Given the description of an element on the screen output the (x, y) to click on. 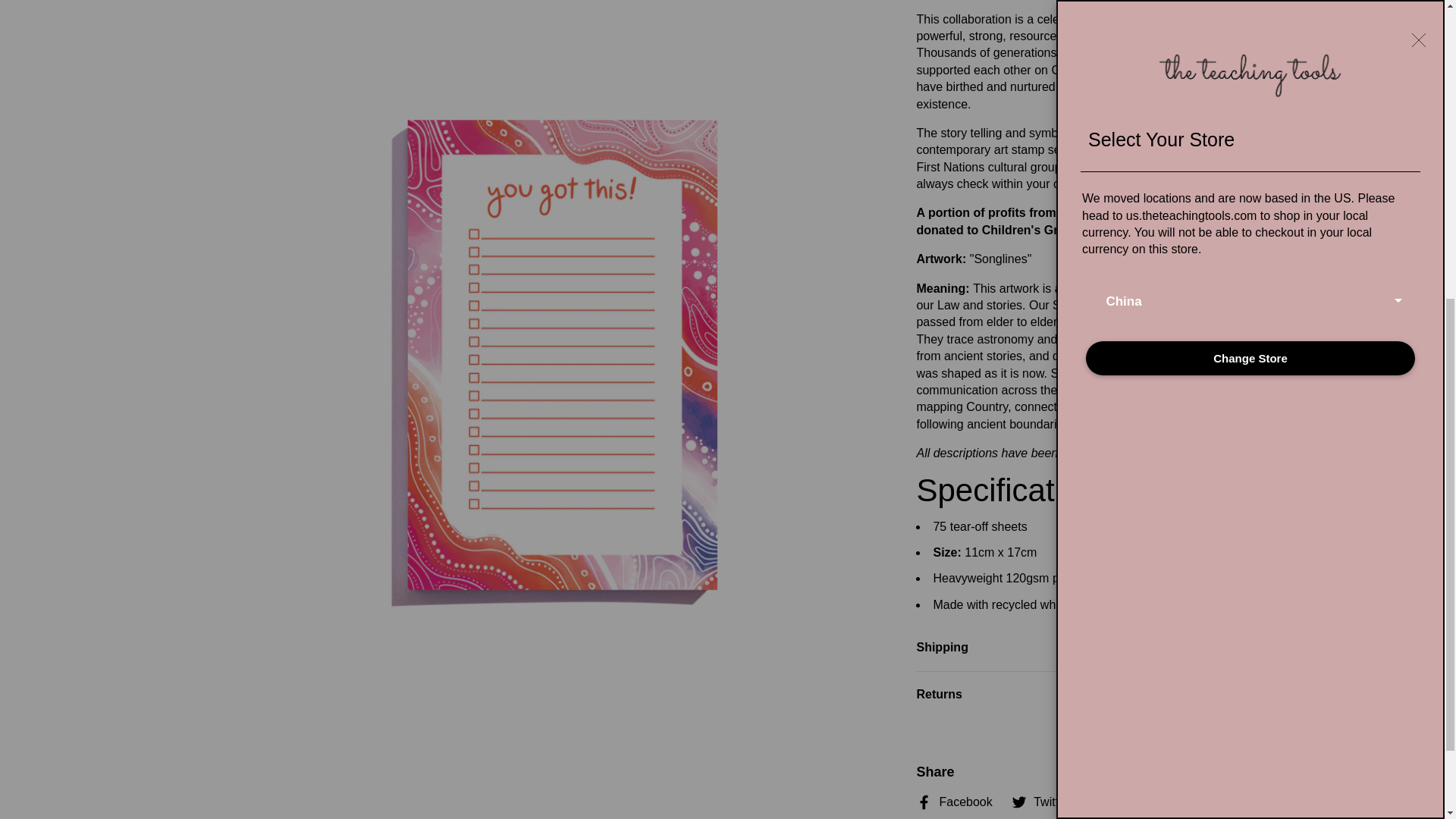
Share on facebook (953, 801)
Share on twitter (1039, 801)
Share on pinterest (1122, 801)
